Given the description of an element on the screen output the (x, y) to click on. 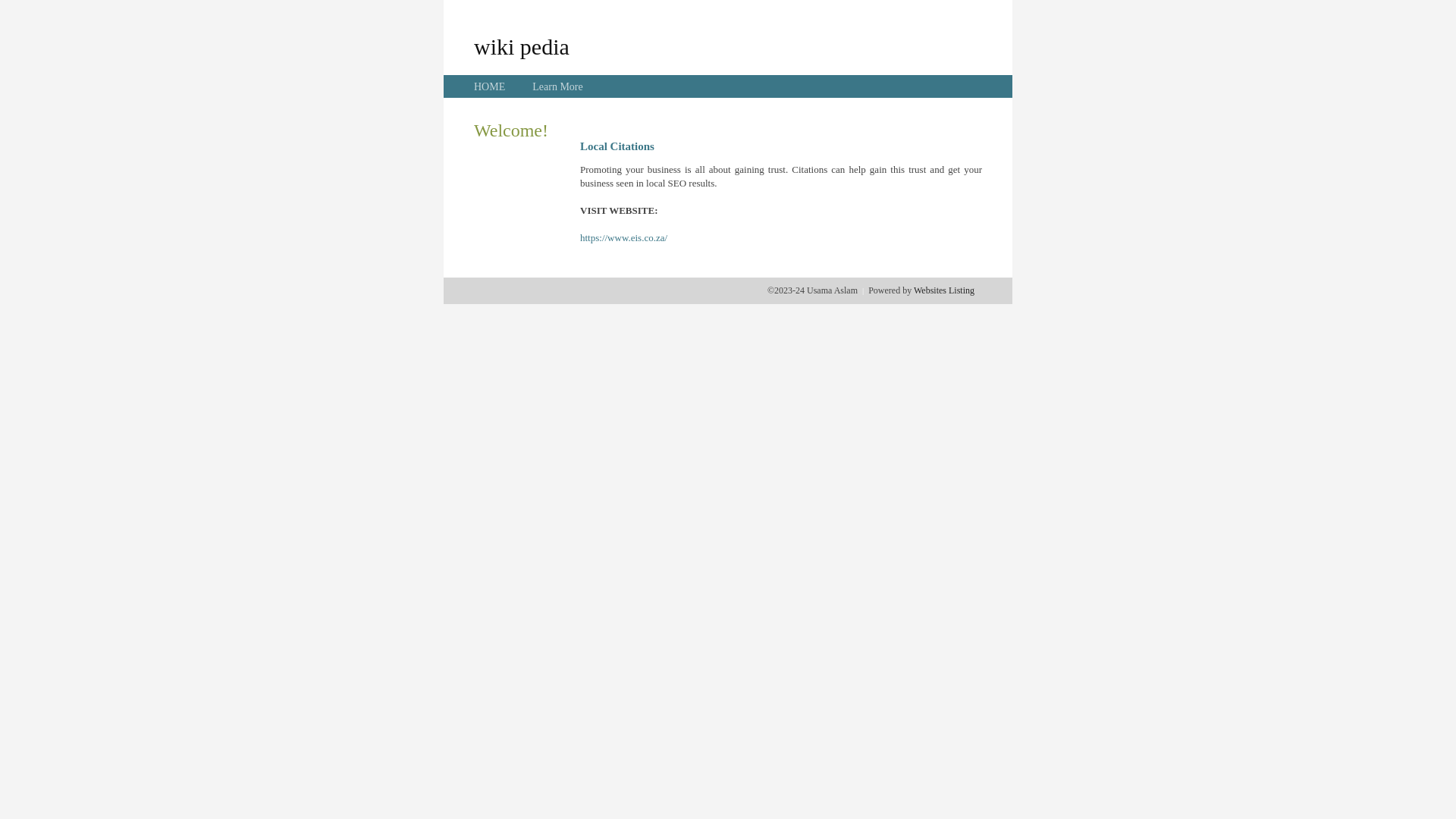
https://www.eis.co.za/ Element type: text (623, 237)
Learn More Element type: text (557, 86)
Websites Listing Element type: text (943, 290)
HOME Element type: text (489, 86)
wiki pedia Element type: text (521, 46)
